Given the description of an element on the screen output the (x, y) to click on. 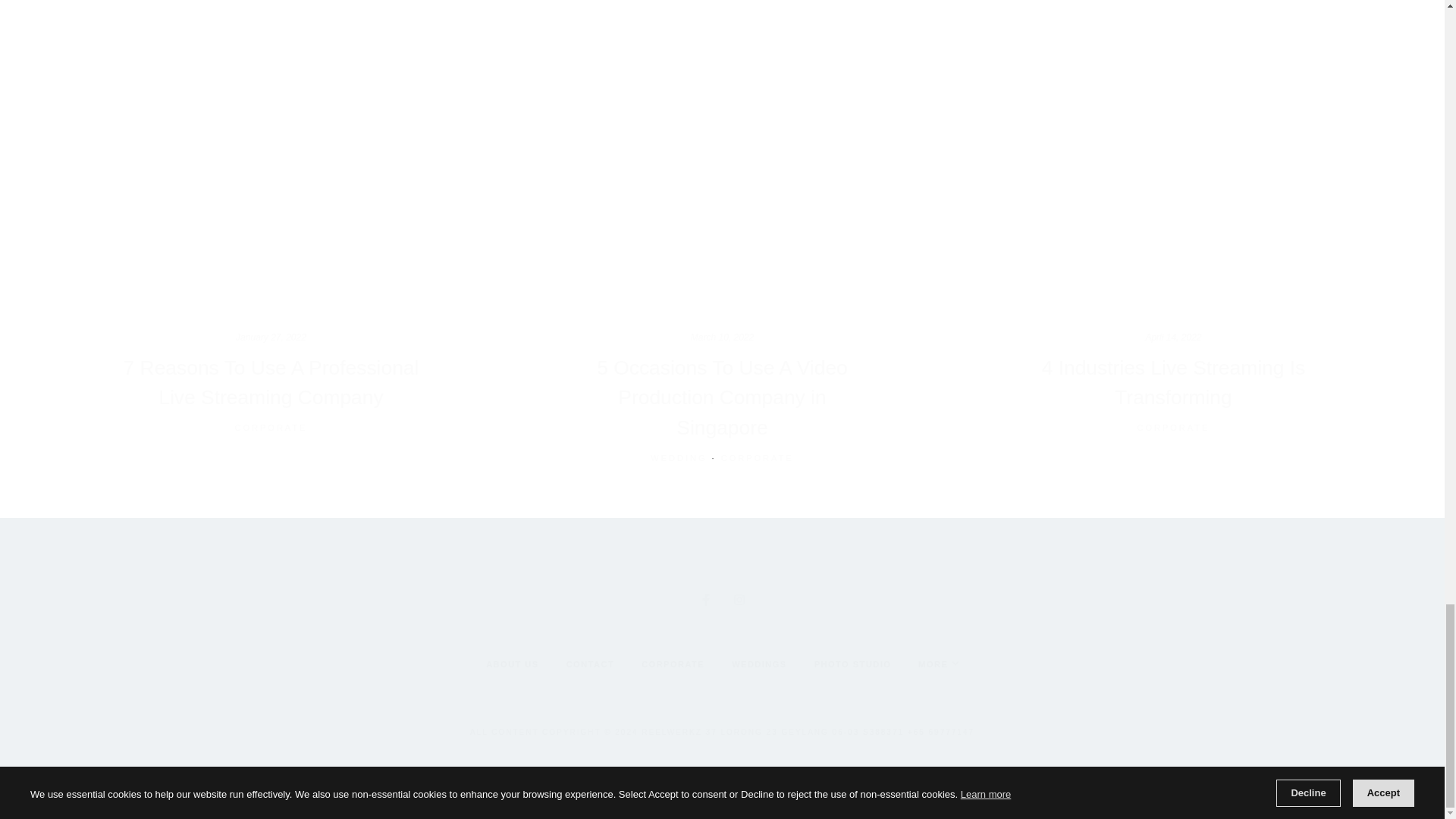
CORPORATE (1173, 427)
CORPORATE (756, 457)
CORPORATE (270, 427)
WEDDING (678, 457)
